Given the description of an element on the screen output the (x, y) to click on. 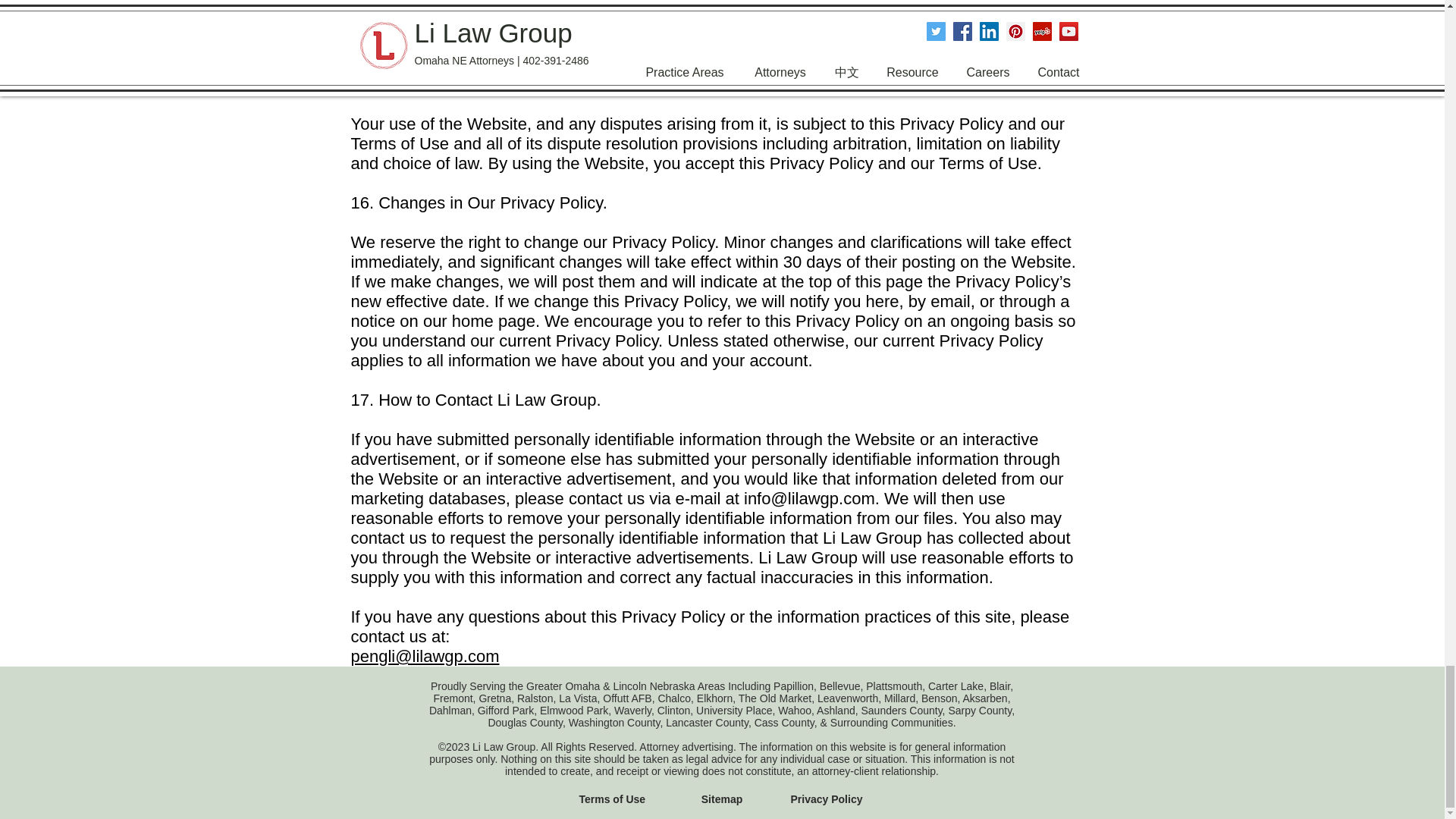
Omaha (581, 686)
Privacy Policy (825, 799)
Sitemap (721, 799)
Terms of Use (612, 799)
